Given the description of an element on the screen output the (x, y) to click on. 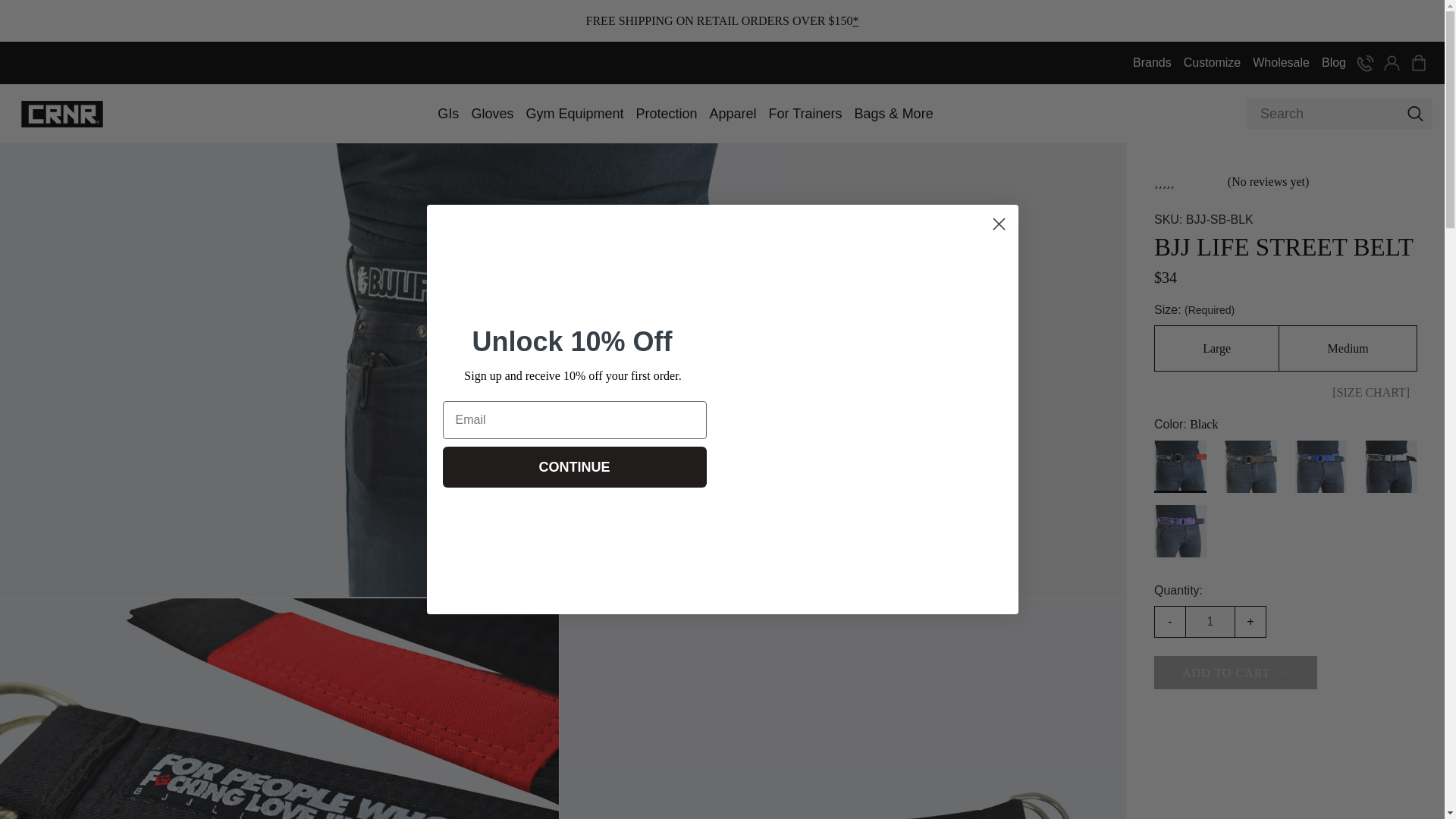
Medium (1348, 348)
Blog (1334, 62)
Close dialog 1 (998, 223)
Gloves (491, 113)
GIs (447, 113)
Large (1216, 348)
Customize (1212, 62)
Wholesale (1281, 62)
1 (1209, 621)
Gym Equipment (573, 113)
Brands (1151, 62)
